Given the description of an element on the screen output the (x, y) to click on. 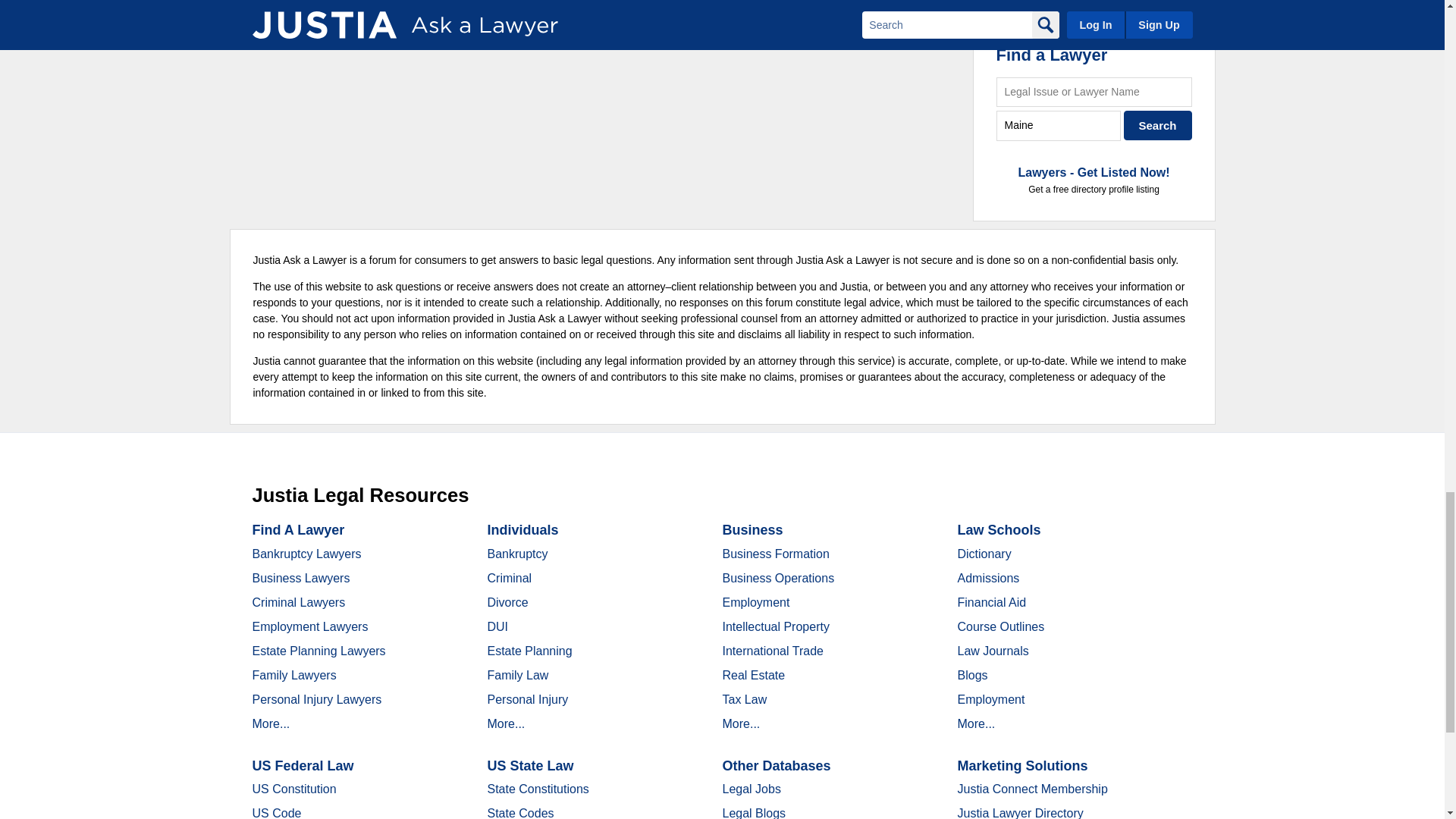
Search (1158, 125)
Maine (1058, 125)
Legal Issue or Lawyer Name (1093, 91)
Search (1158, 125)
City, State (1058, 125)
